Given the description of an element on the screen output the (x, y) to click on. 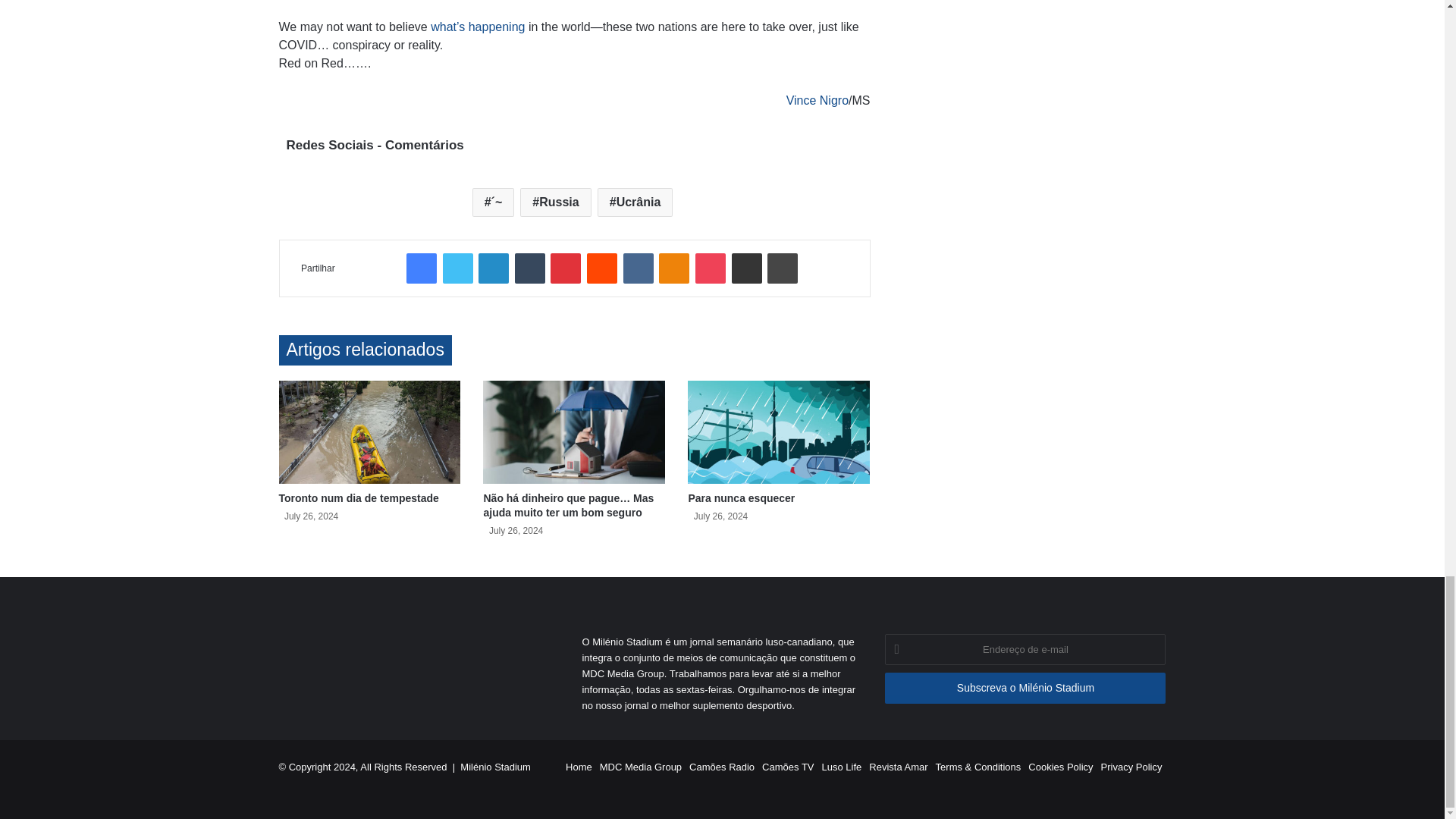
Twitter (457, 268)
LinkedIn (493, 268)
Facebook (421, 268)
